Given the description of an element on the screen output the (x, y) to click on. 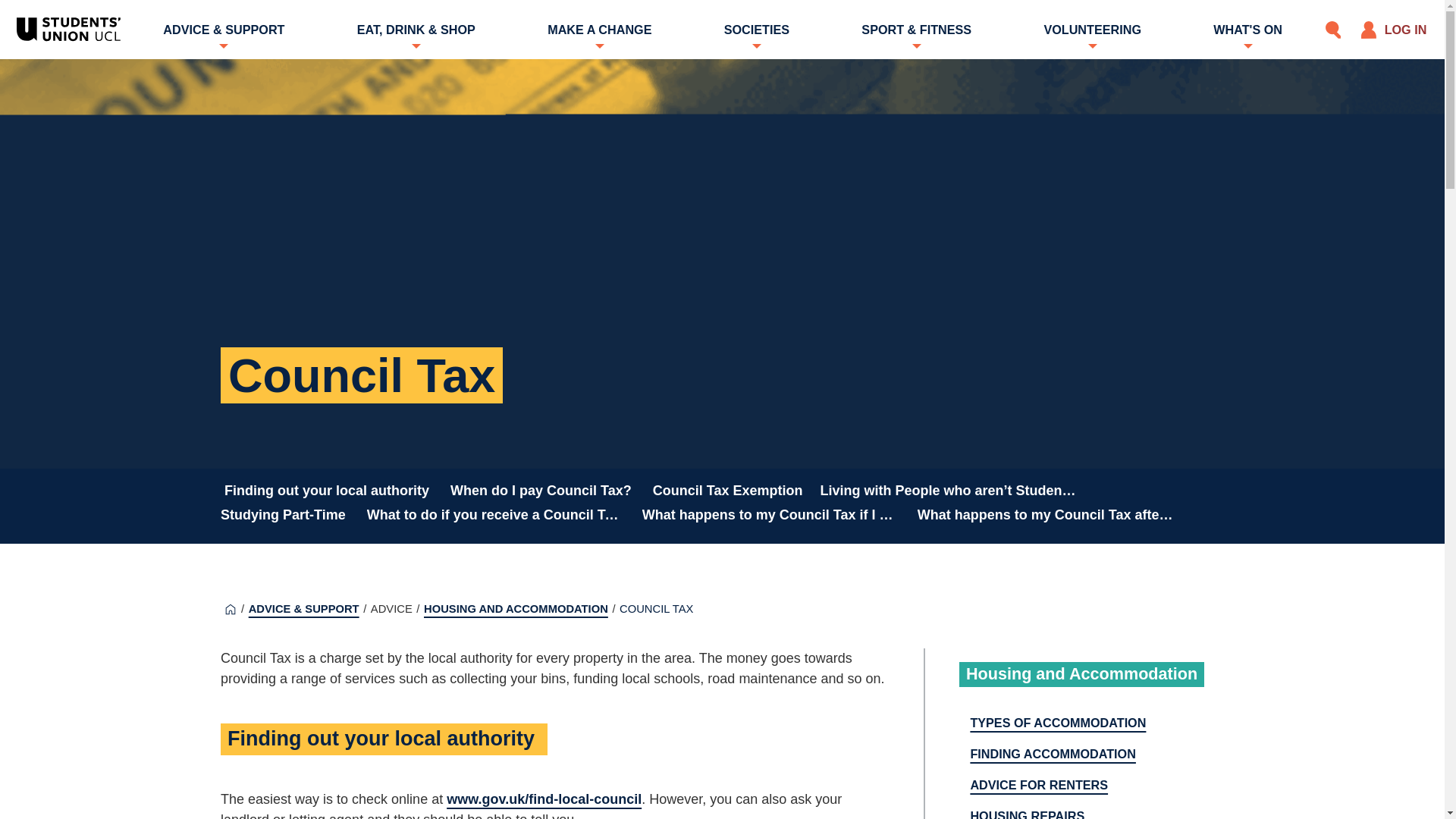
Log in (1393, 29)
Students' Union UCL - Home (68, 28)
